Given the description of an element on the screen output the (x, y) to click on. 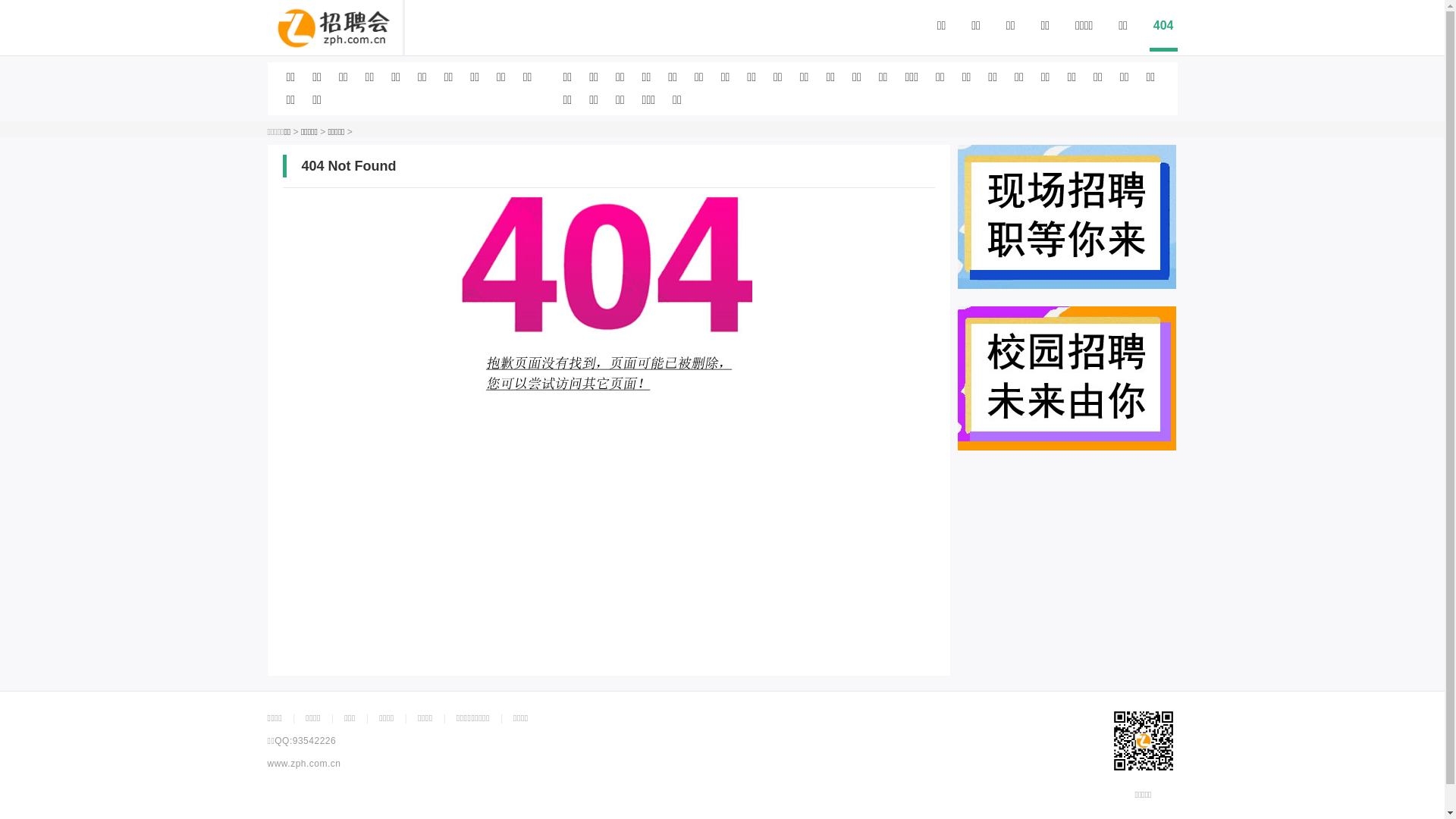
404 Element type: text (1163, 29)
